Given the description of an element on the screen output the (x, y) to click on. 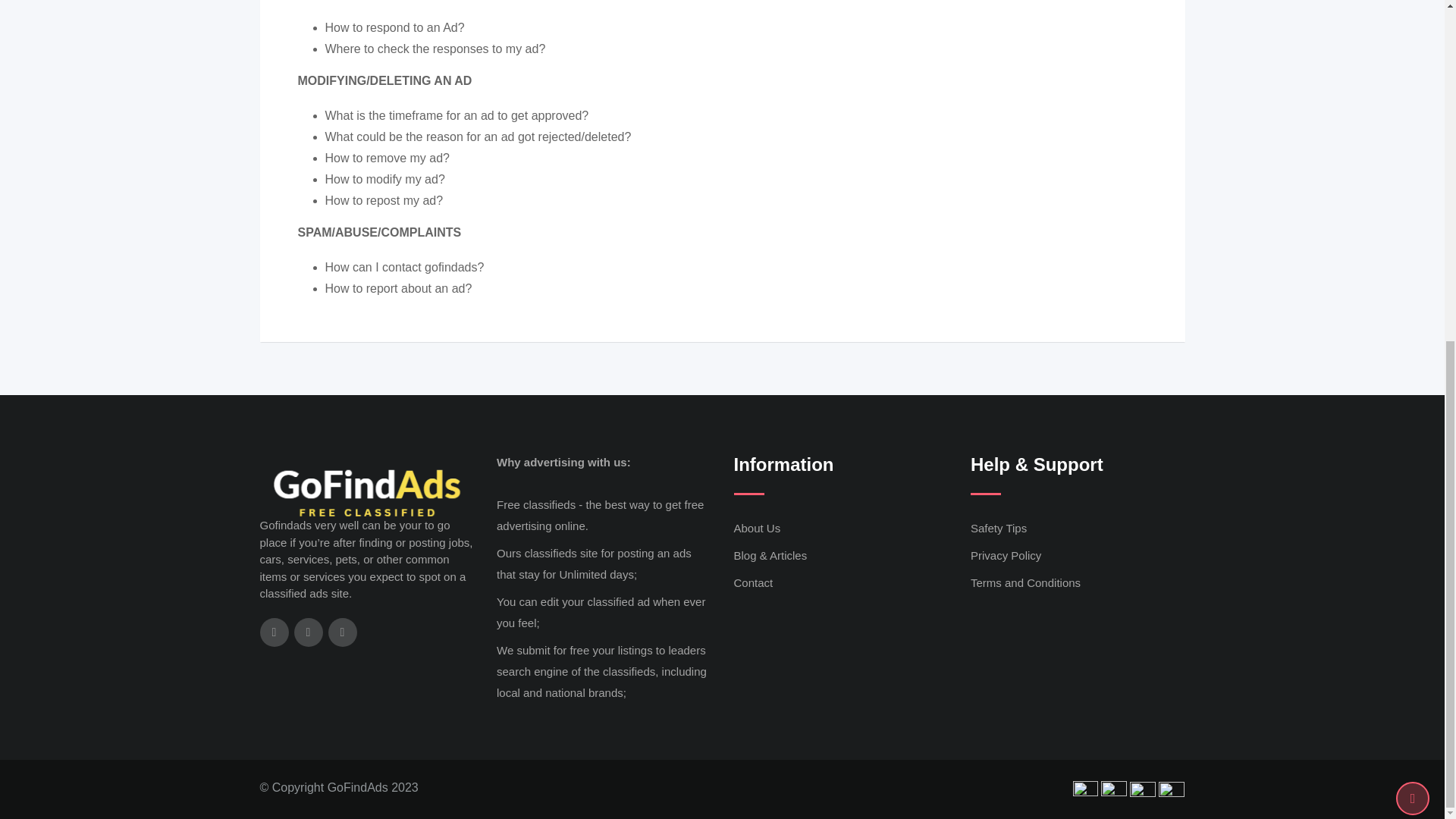
Terms and Conditions (1025, 582)
Safety Tips (998, 527)
About Us (756, 527)
Privacy Policy (1006, 554)
Contact (753, 582)
